Given the description of an element on the screen output the (x, y) to click on. 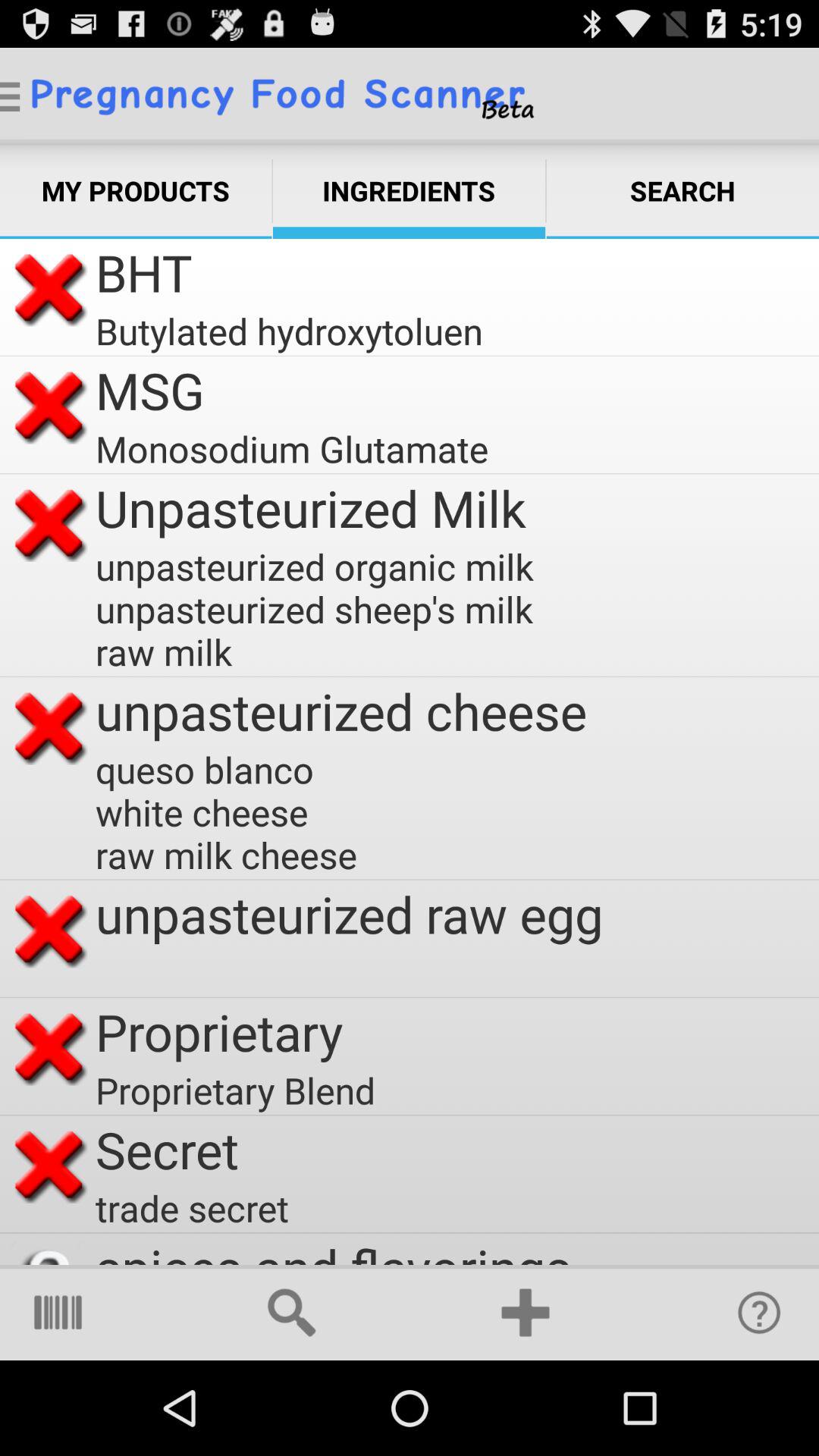
launch the app below the butylated hydroxytoluen (149, 390)
